Given the description of an element on the screen output the (x, y) to click on. 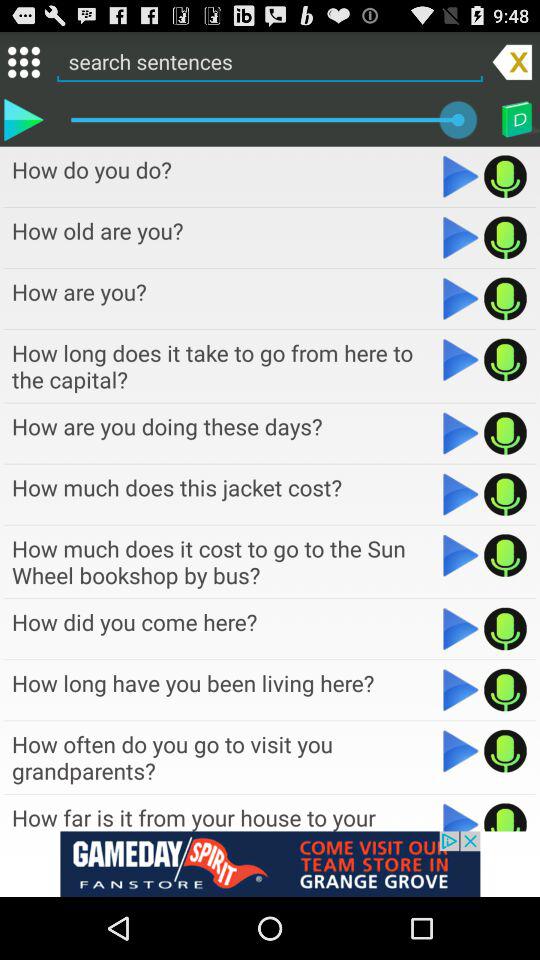
play option (460, 237)
